Given the description of an element on the screen output the (x, y) to click on. 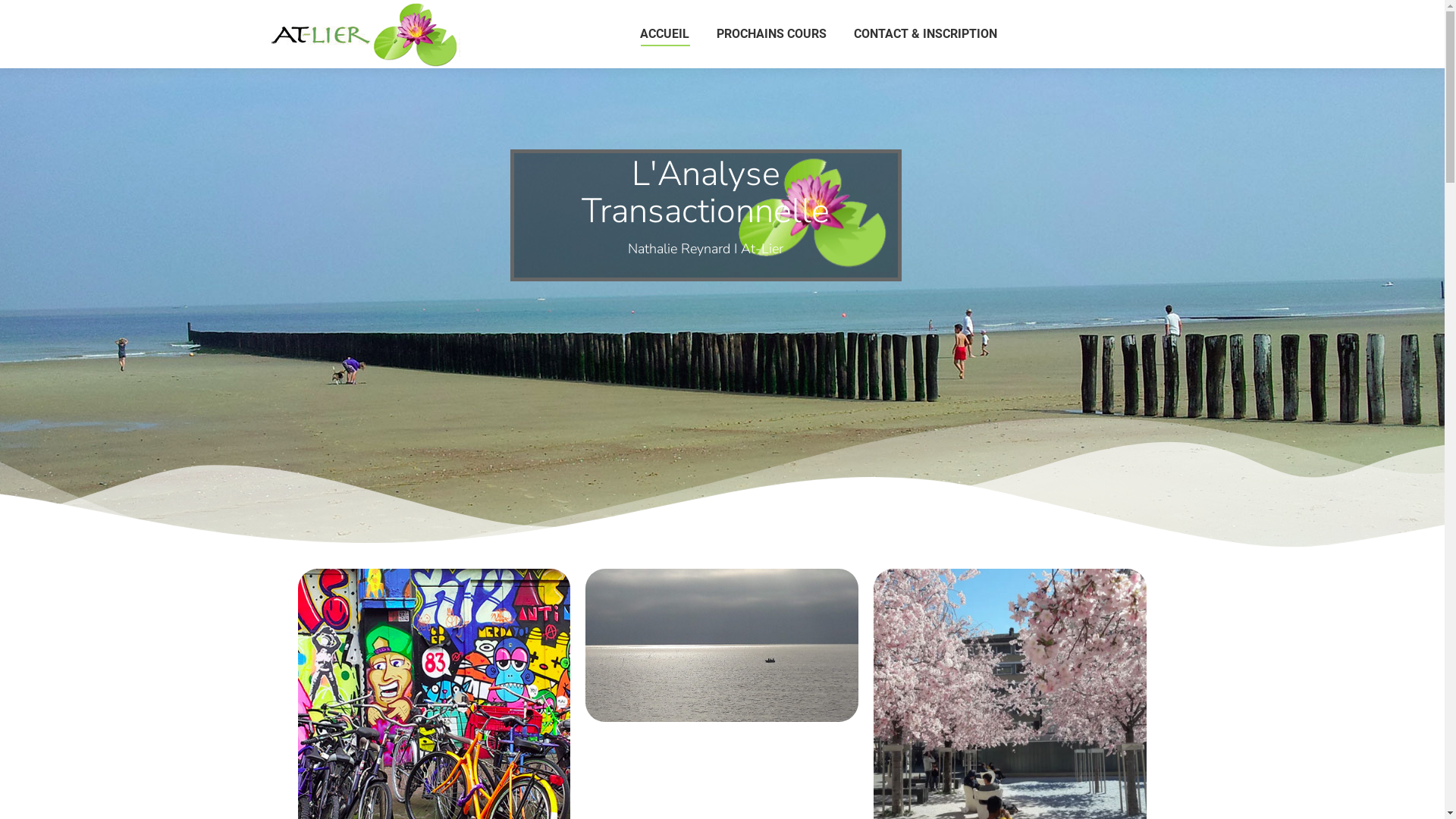
ACCUEIL Element type: text (664, 33)
PROCHAINS COURS Element type: text (771, 33)
CONTACT & INSCRIPTION Element type: text (925, 33)
